Given the description of an element on the screen output the (x, y) to click on. 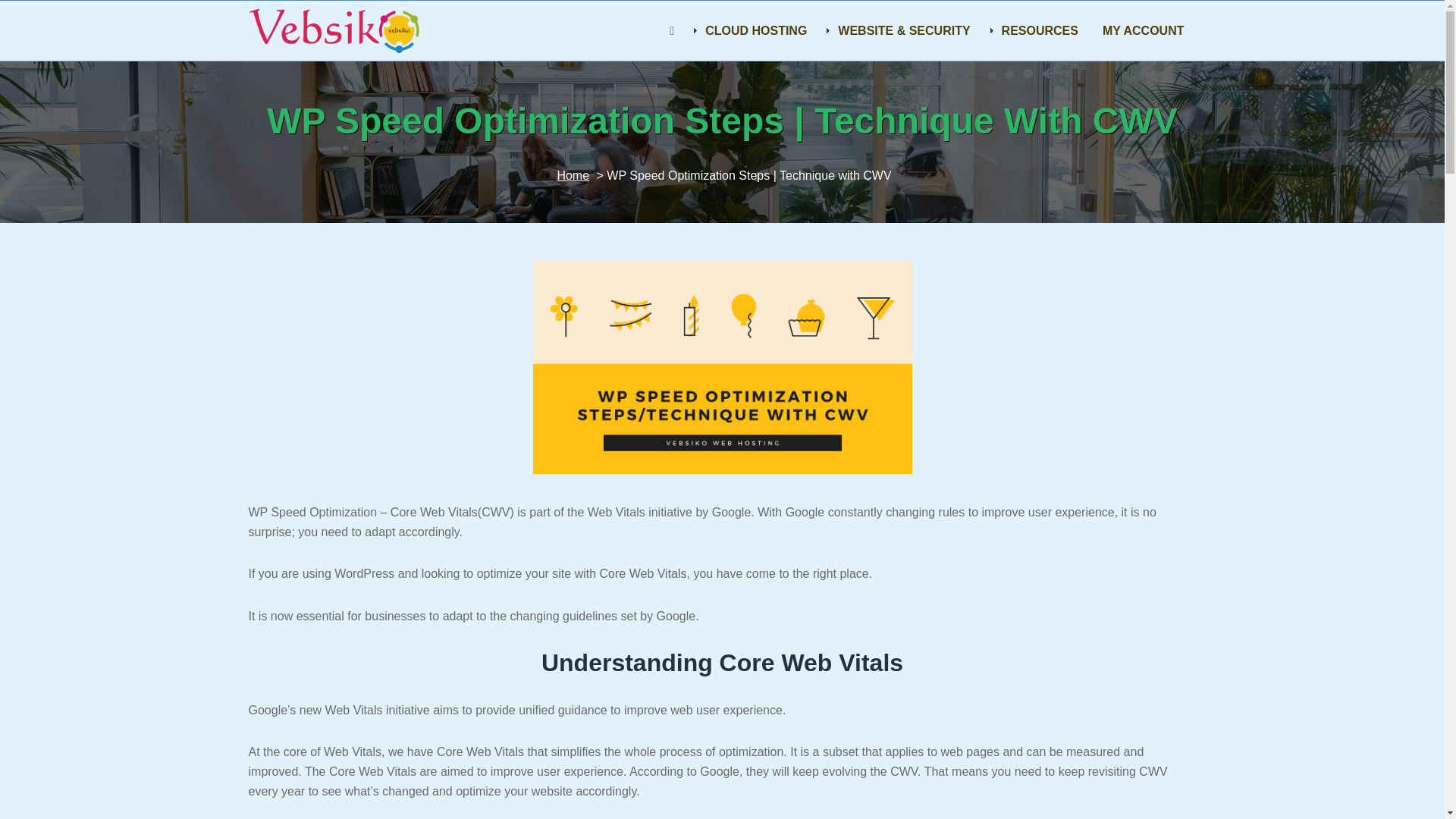
CLOUD HOSTING (751, 30)
RESOURCES (1036, 30)
Home (572, 174)
MY ACCOUNT (1143, 30)
